Given the description of an element on the screen output the (x, y) to click on. 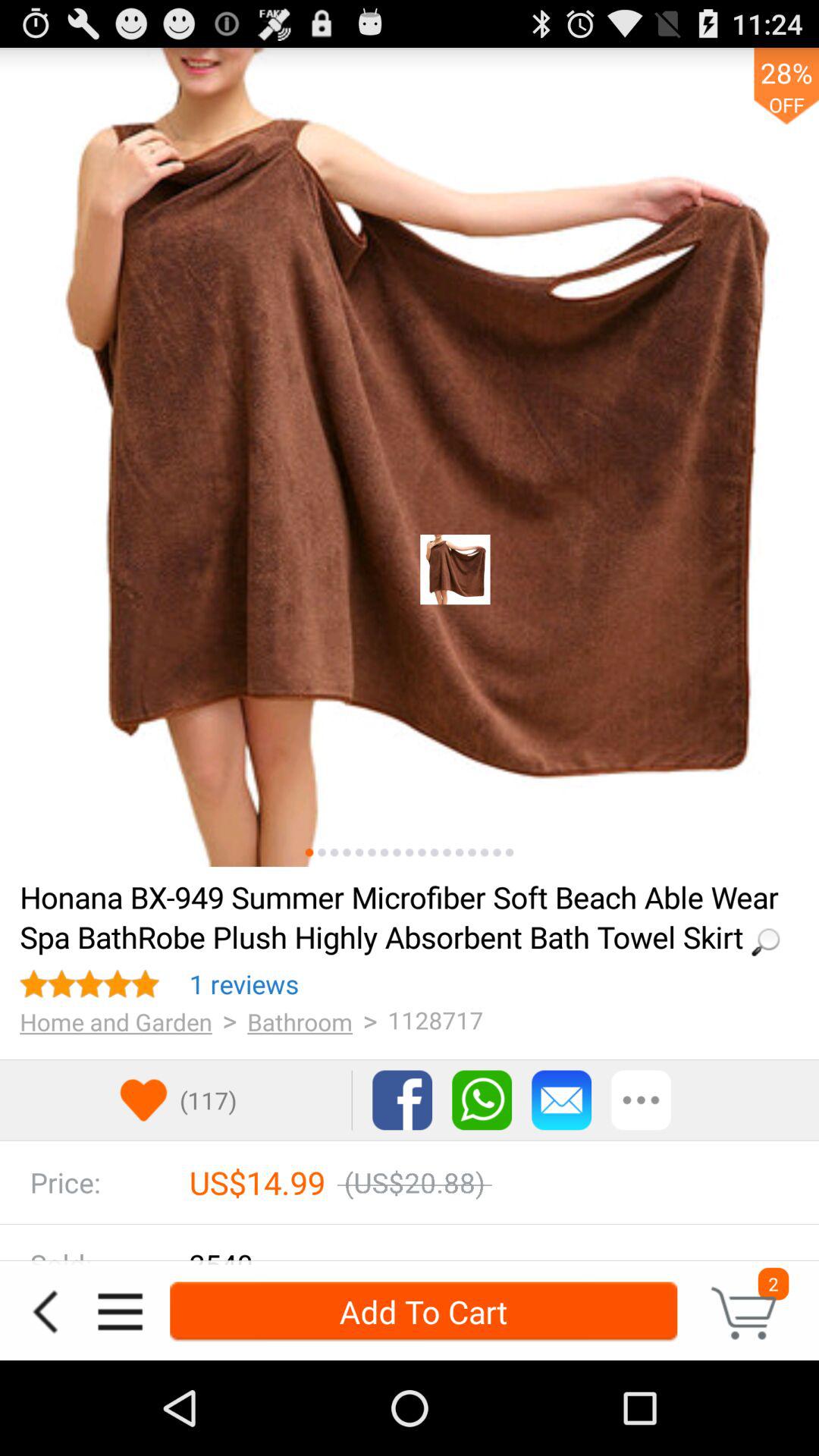
shows next image option (371, 852)
